Given the description of an element on the screen output the (x, y) to click on. 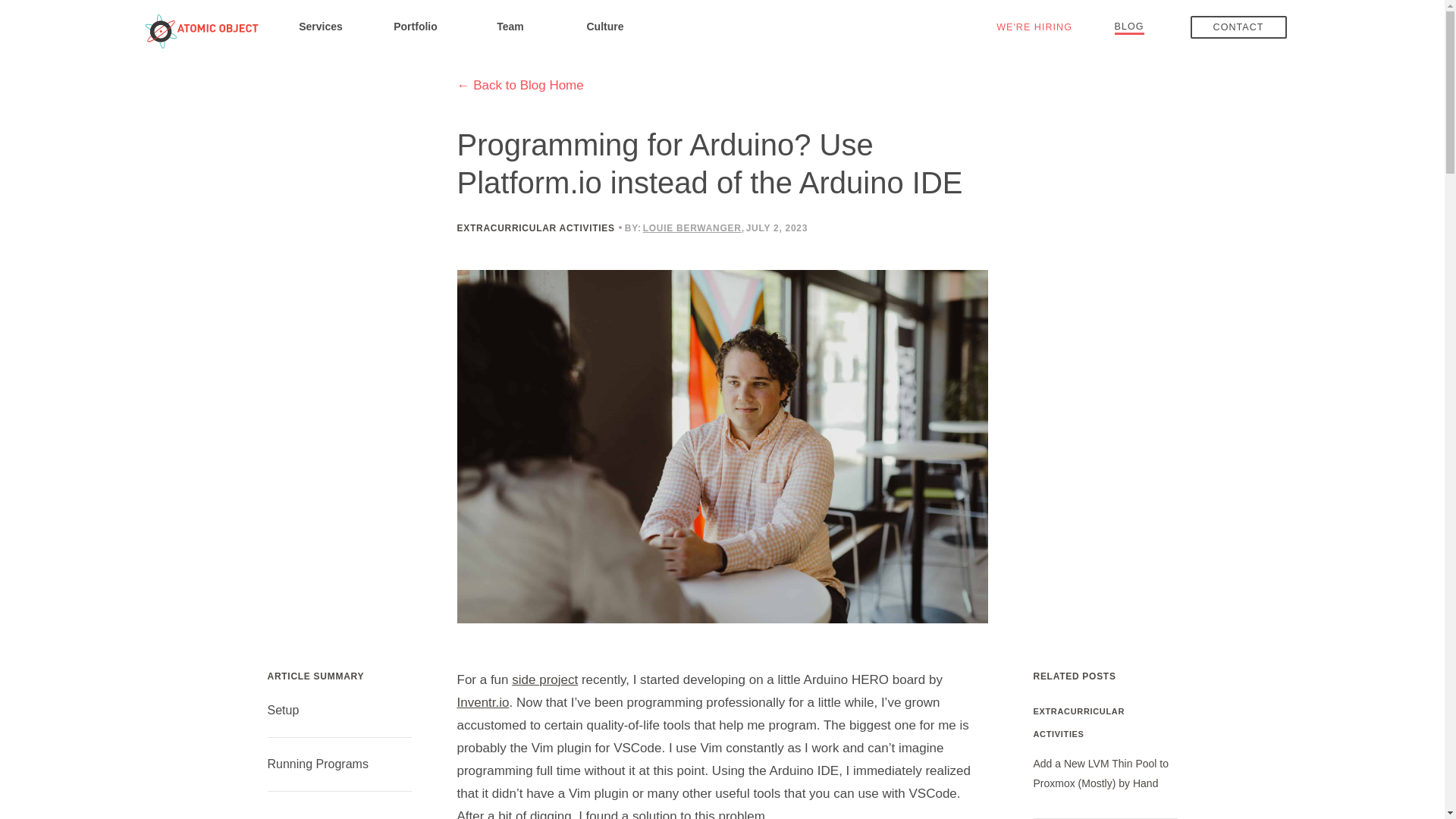
BLOG (1129, 26)
EXTRACURRICULAR ACTIVITIES (535, 227)
LINKEDIN (957, 226)
TWITTER (914, 226)
Setup (282, 709)
CONTACT (1239, 26)
FACEBOOK (936, 226)
Services (320, 26)
WE'RE HIRING (1033, 27)
Running Programs (317, 763)
